Given the description of an element on the screen output the (x, y) to click on. 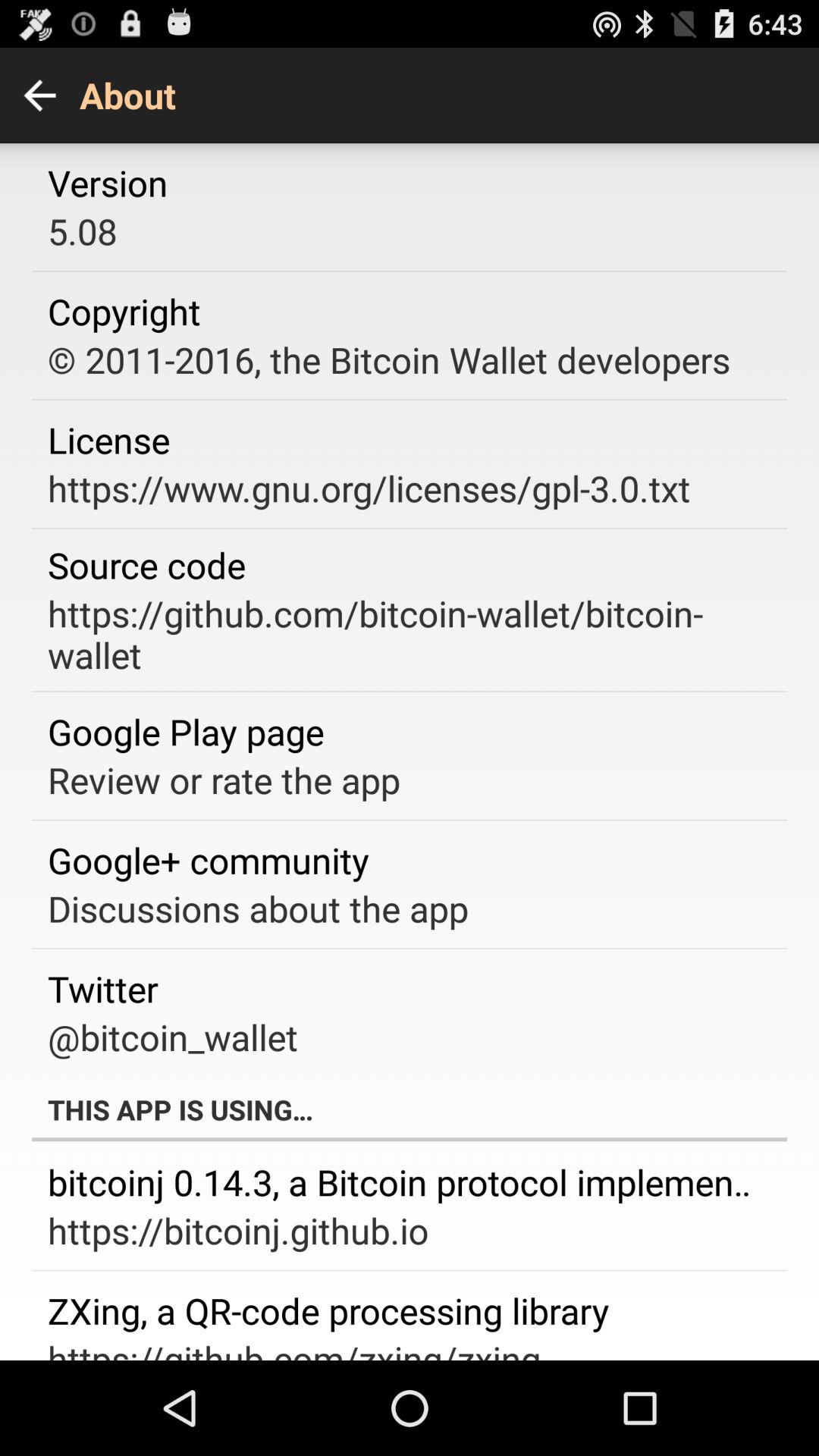
turn on the app above @bitcoin_wallet (102, 988)
